Given the description of an element on the screen output the (x, y) to click on. 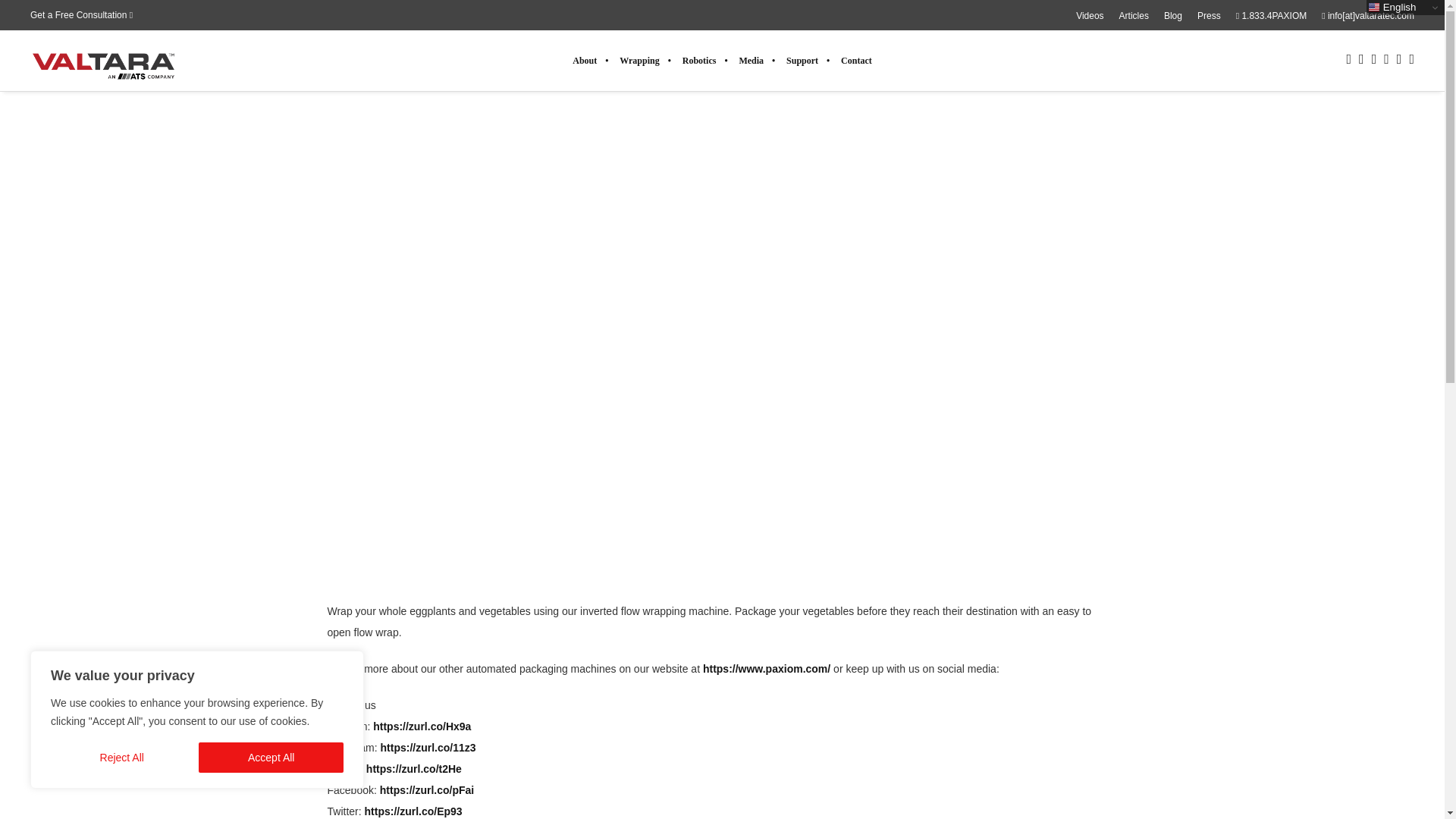
Support (801, 60)
Wrapping (638, 60)
1.833.4PAXIOM (1271, 15)
Reject All (121, 757)
Videos (1089, 15)
Accept All (270, 757)
Articles (1133, 15)
Robotics (699, 60)
Get a Free Consultation (84, 15)
